Given the description of an element on the screen output the (x, y) to click on. 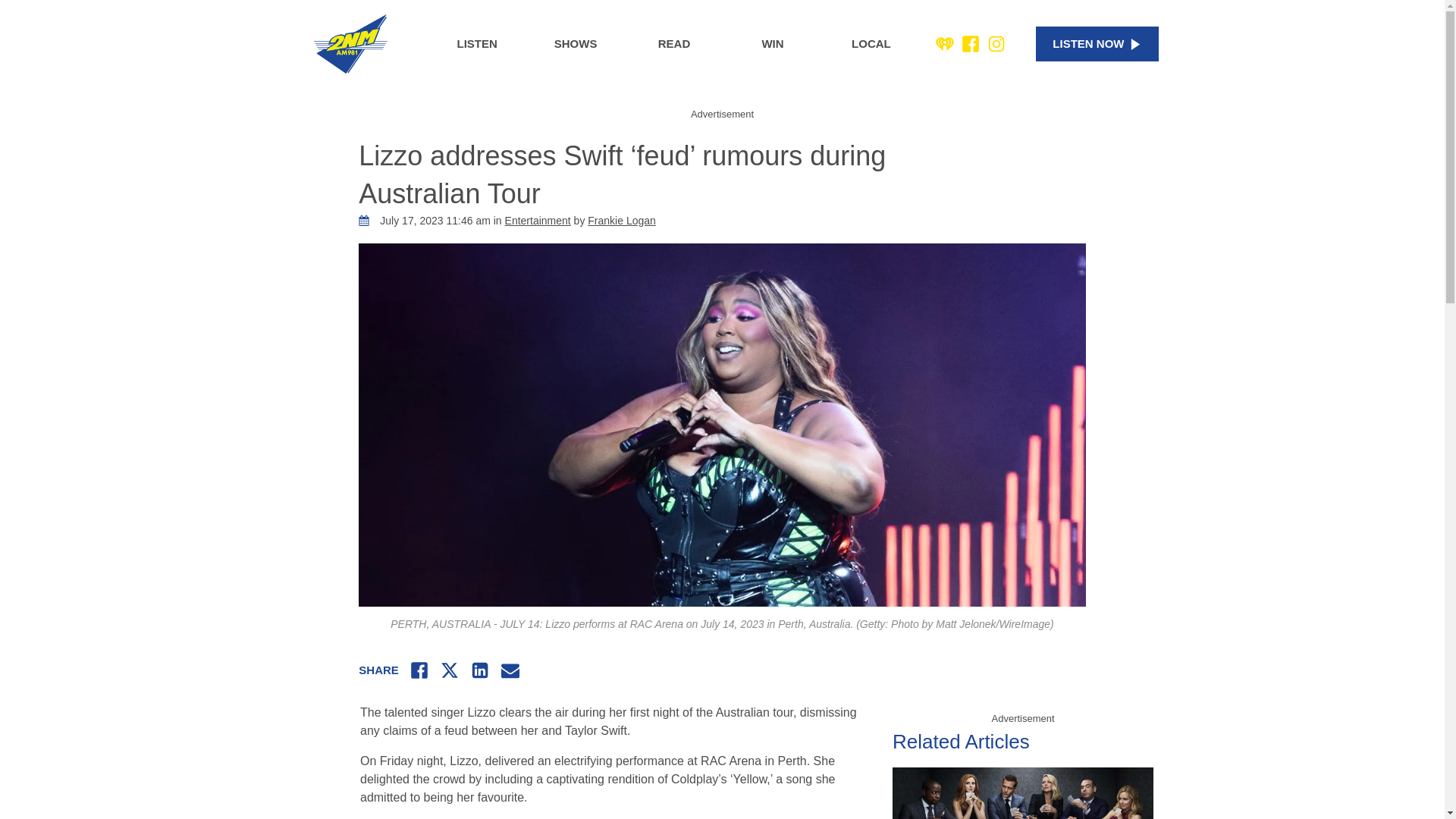
LISTEN NOW (1096, 44)
Facebook (969, 44)
SHOWS (574, 43)
iHeart (944, 44)
WIN (772, 43)
READ (673, 43)
Instagram (996, 44)
Posts by Frankie Logan (622, 220)
LOCAL (871, 43)
LISTEN (476, 43)
